Given the description of an element on the screen output the (x, y) to click on. 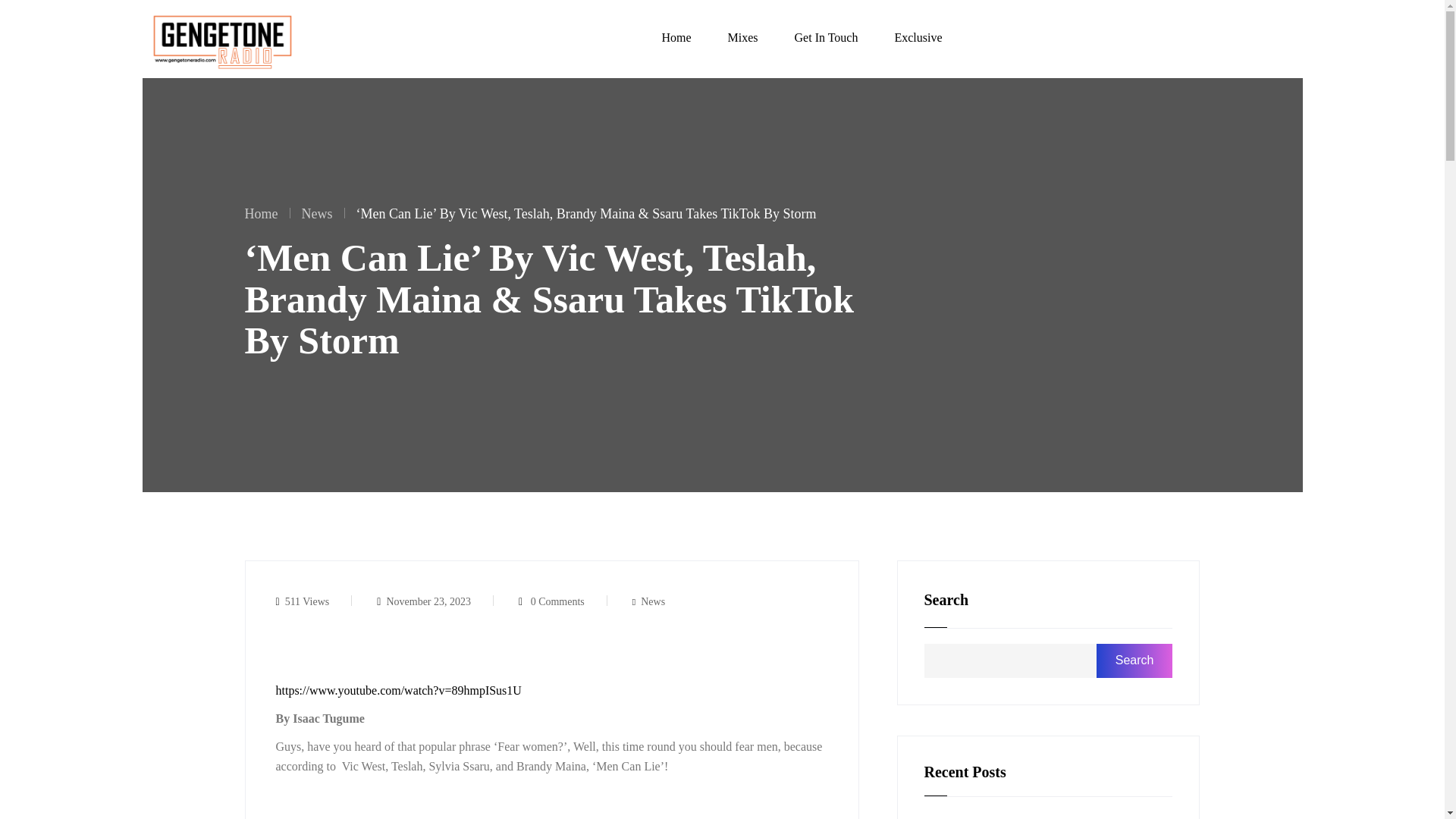
Gengetone Radio (221, 38)
Home (261, 213)
Get In Touch (826, 27)
511 Views (314, 601)
0 Comments (562, 601)
November 23, 2023 (435, 601)
News (652, 601)
News (317, 213)
